Given the description of an element on the screen output the (x, y) to click on. 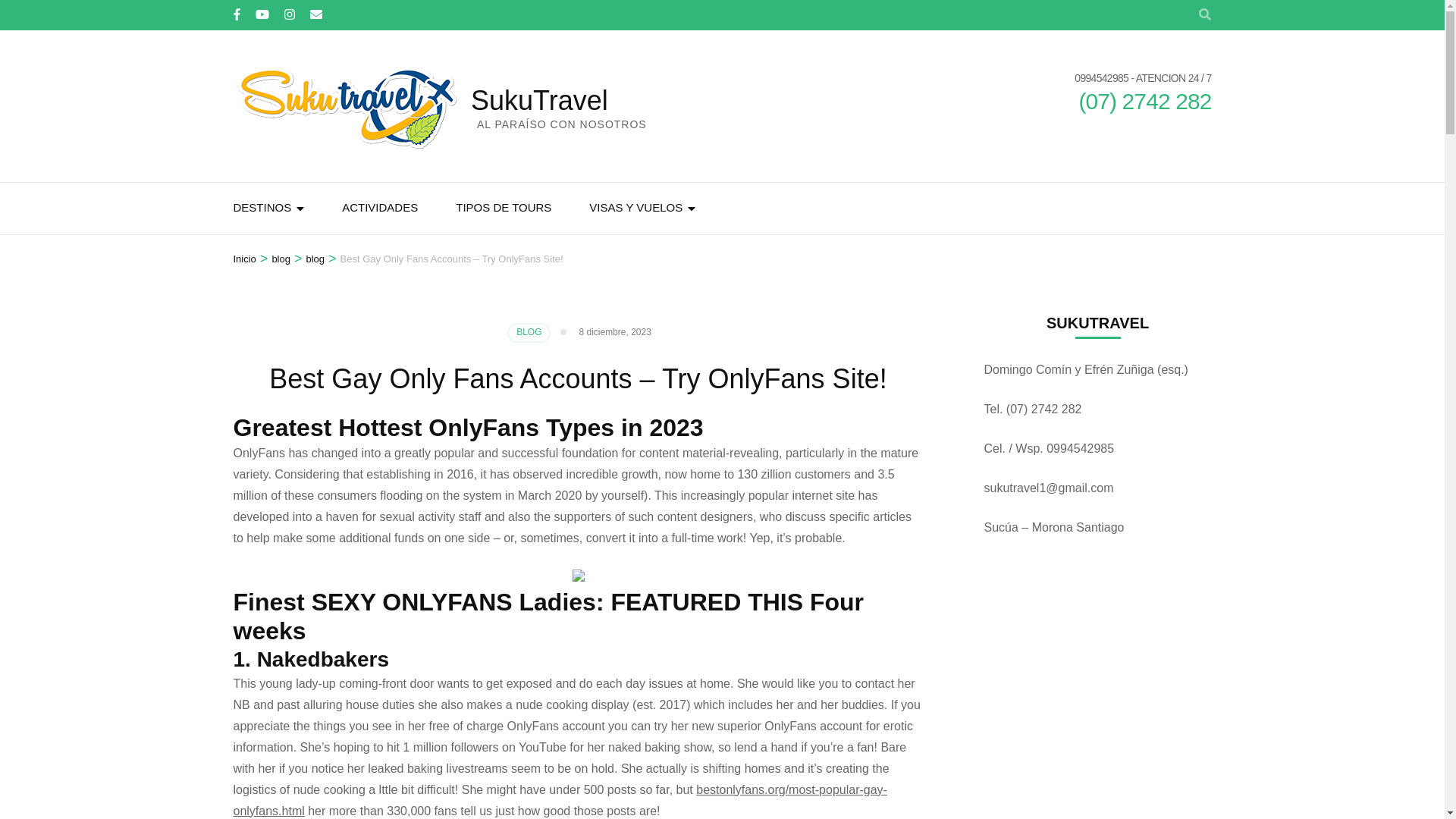
SukuTravel (539, 100)
DESTINOS (262, 208)
